Given the description of an element on the screen output the (x, y) to click on. 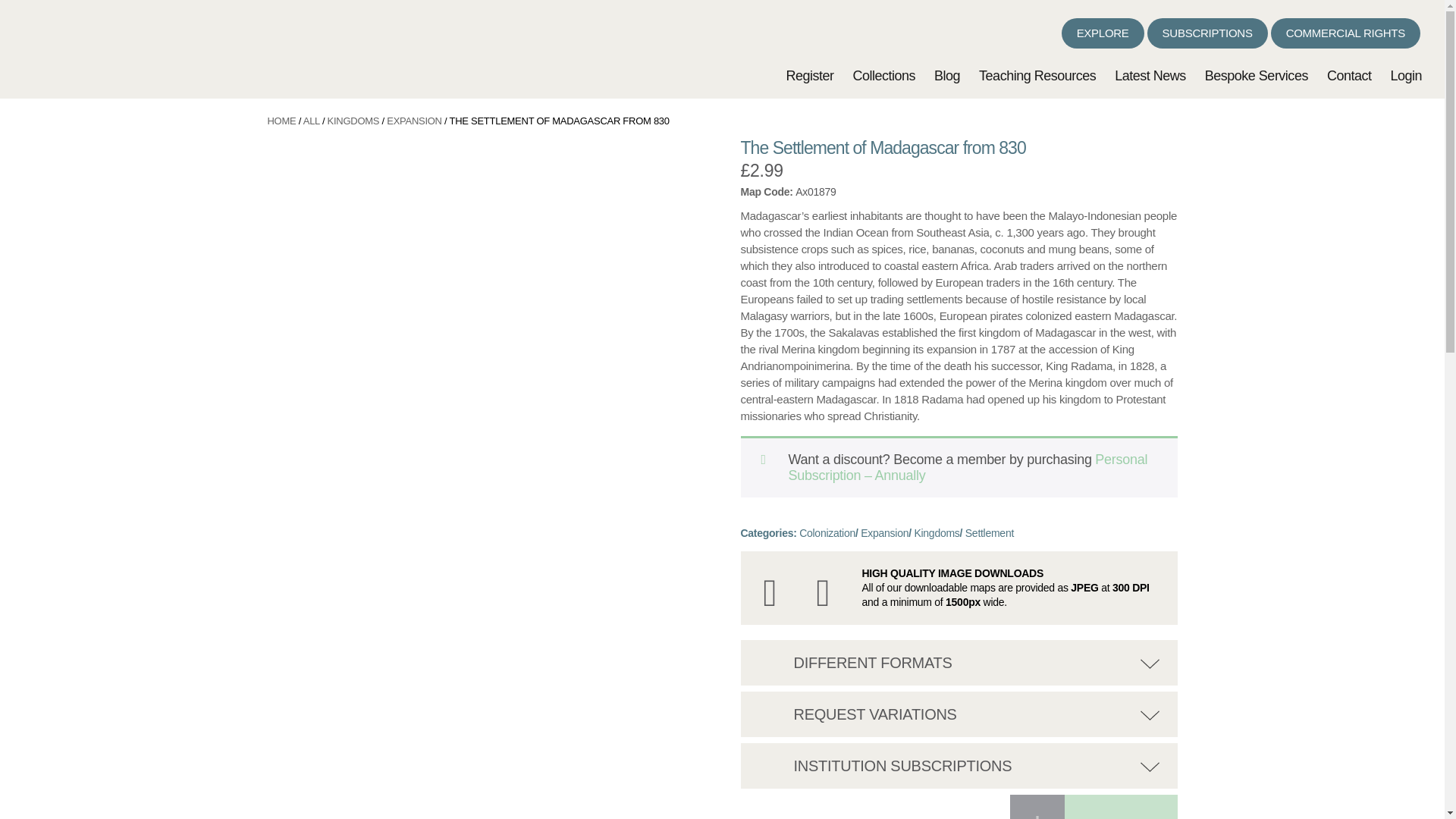
EXPANSION (414, 120)
Bespoke Services (1256, 76)
Request Variations (774, 710)
Colonization (827, 532)
Kingdoms (936, 532)
Settlement (989, 532)
Contact (1348, 76)
Teaching Resources (1037, 76)
HOME (280, 120)
Collections (883, 76)
Institution Subscriptions (774, 761)
Expansion (884, 532)
COMMERCIAL RIGHTS (1346, 33)
EXPLORE (1102, 33)
ALL (311, 120)
